Given the description of an element on the screen output the (x, y) to click on. 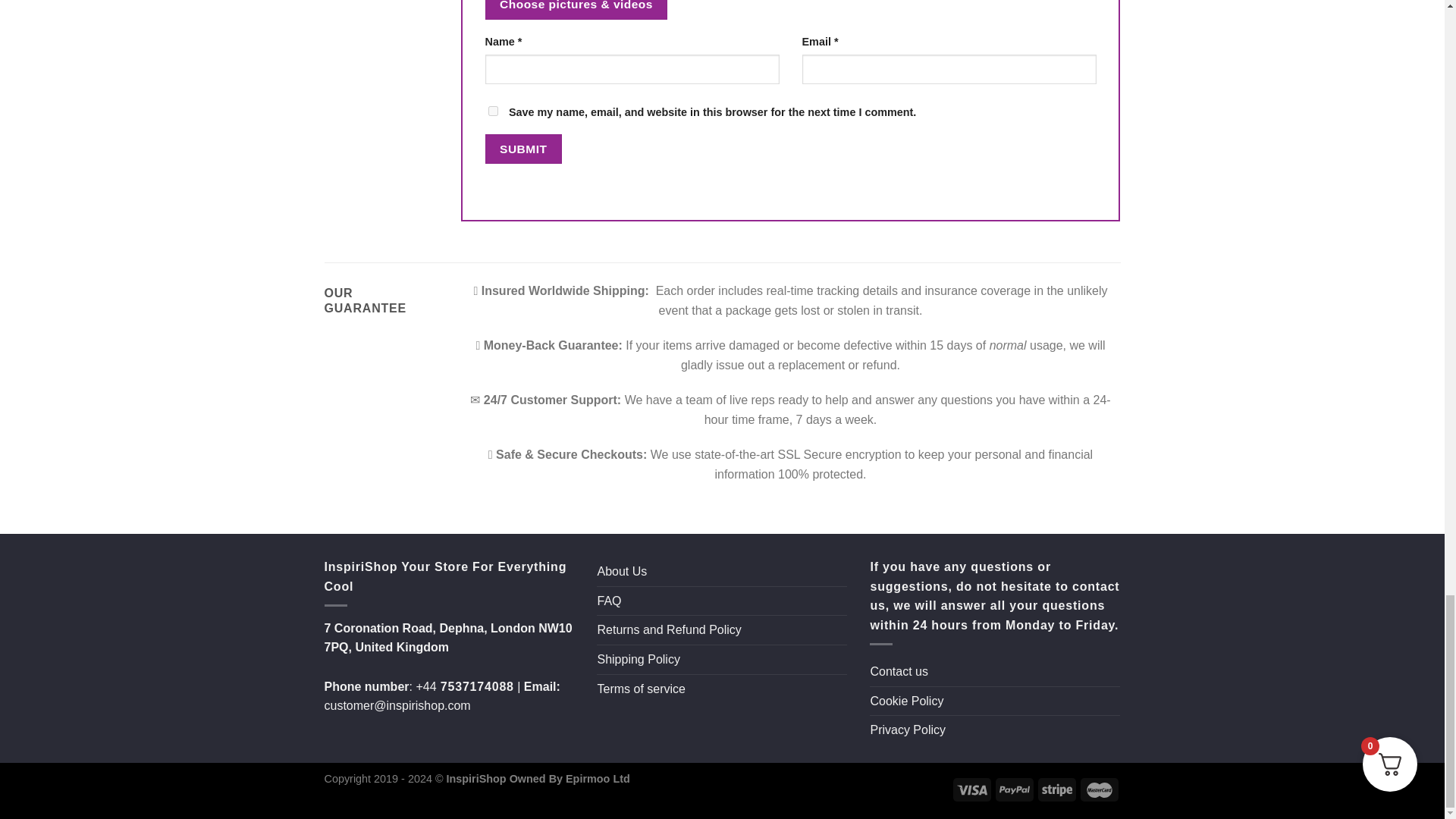
yes (492, 111)
Submit (523, 148)
